Given the description of an element on the screen output the (x, y) to click on. 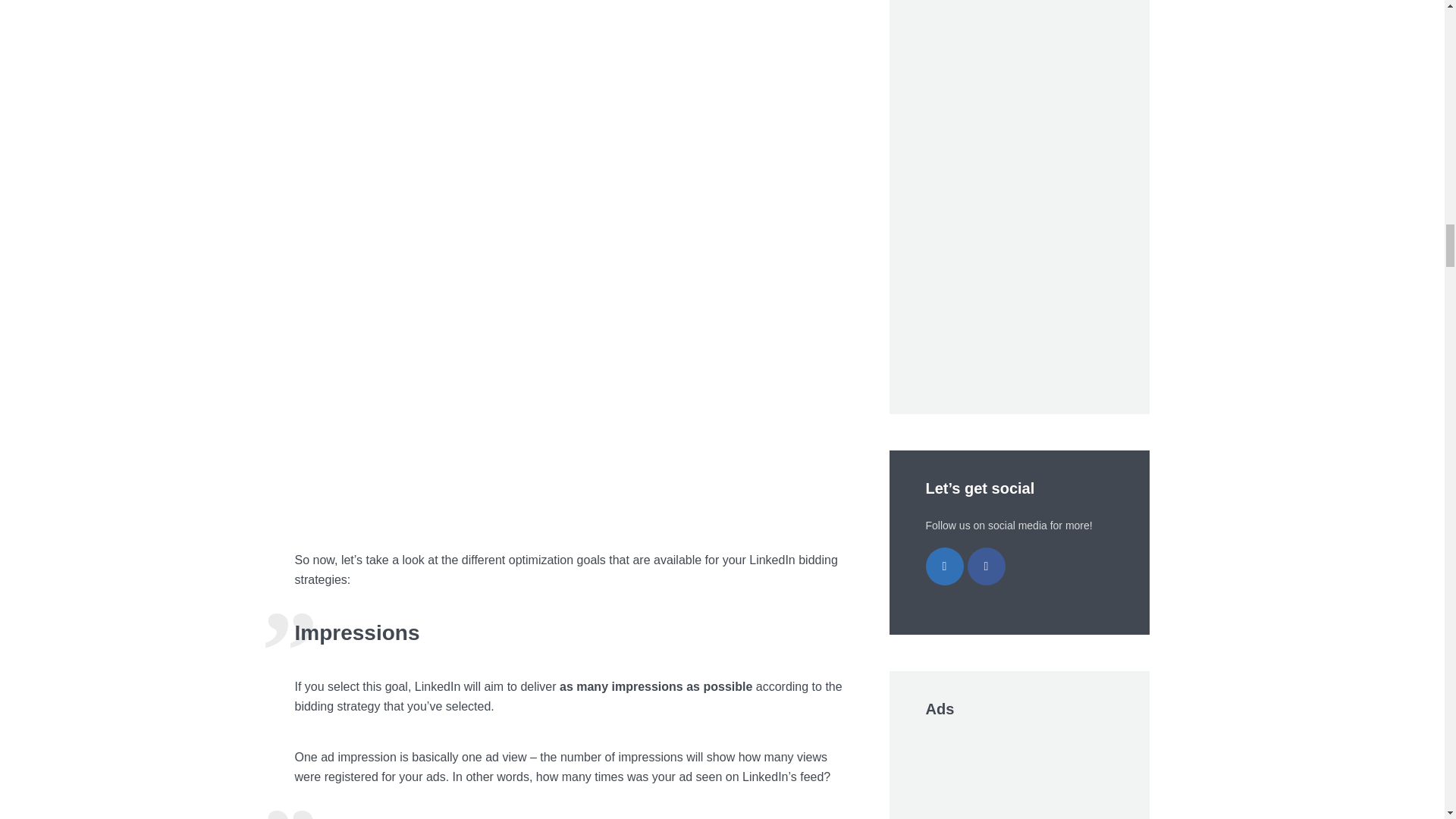
Linkedin (943, 566)
Facebook (987, 566)
